Given the description of an element on the screen output the (x, y) to click on. 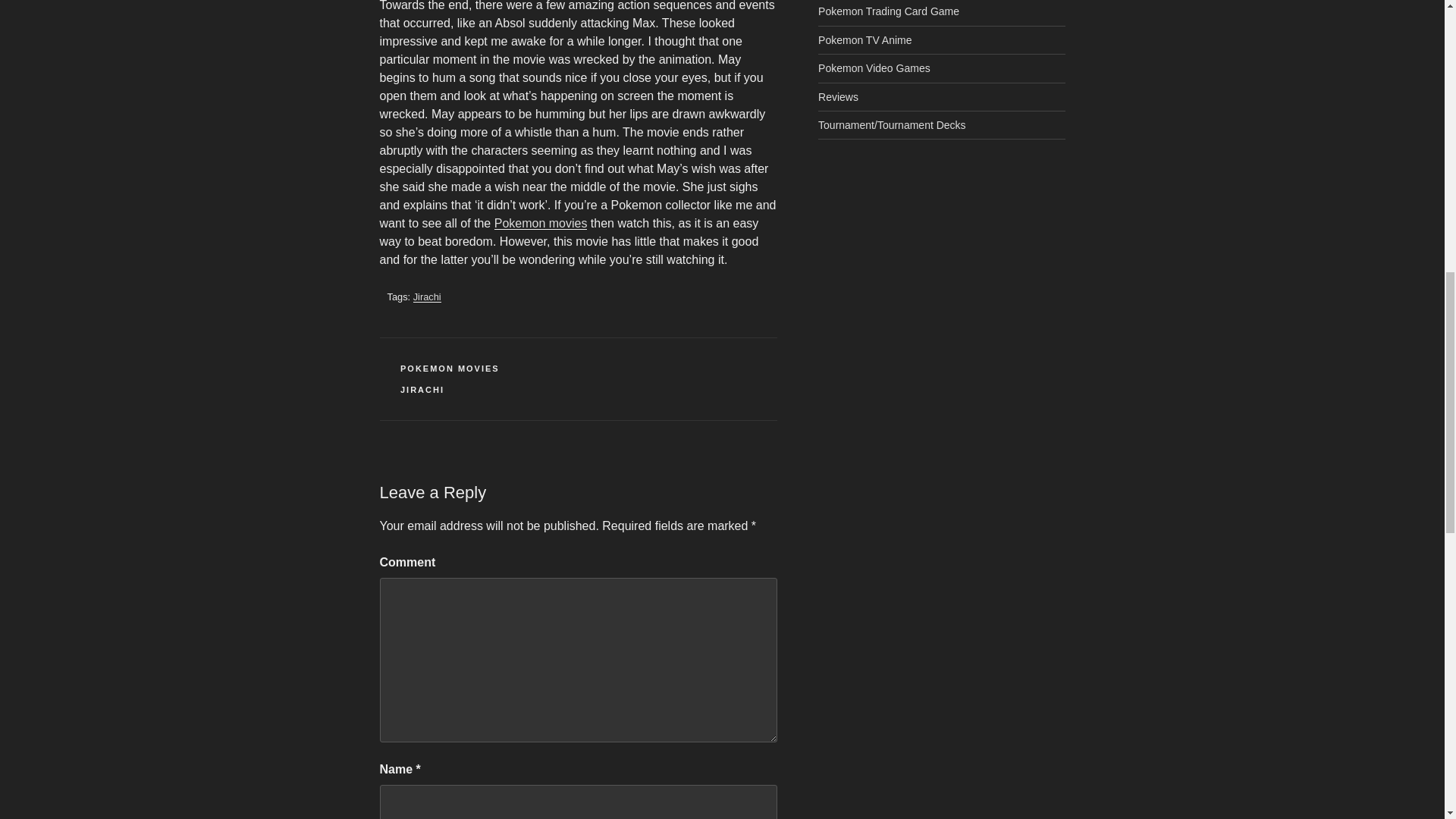
Pokemon TV Anime (864, 39)
Pokemon Video Games (874, 68)
Jirachi (427, 296)
POKEMON MOVIES (449, 368)
Reviews (838, 96)
Pokemon movies (541, 223)
JIRACHI (422, 388)
Pokemon Trading Card Game (888, 10)
